Given the description of an element on the screen output the (x, y) to click on. 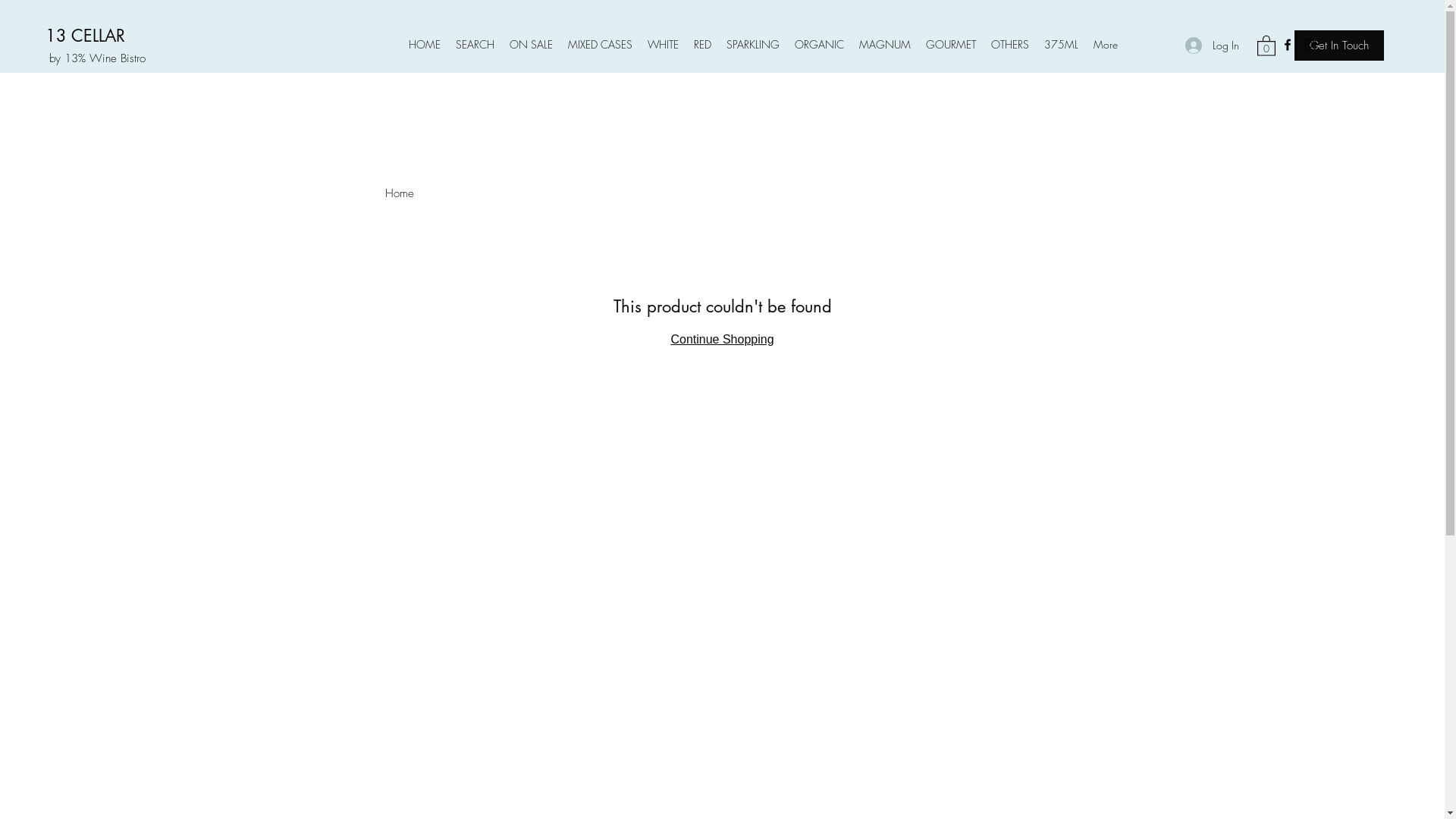
Continue Shopping Element type: text (721, 338)
MAGNUM Element type: text (884, 44)
MIXED CASES Element type: text (600, 44)
Log In Element type: text (1208, 45)
375ML Element type: text (1060, 44)
13 CELLAR Element type: text (85, 35)
0 Element type: text (1266, 45)
SEARCH Element type: text (475, 44)
RED Element type: text (702, 44)
HOME Element type: text (424, 44)
OTHERS Element type: text (1009, 44)
WHITE Element type: text (663, 44)
SPARKLING Element type: text (752, 44)
ORGANIC Element type: text (819, 44)
GOURMET Element type: text (950, 44)
ON SALE Element type: text (531, 44)
Get In Touch Element type: text (1338, 45)
Home Element type: text (399, 192)
